Given the description of an element on the screen output the (x, y) to click on. 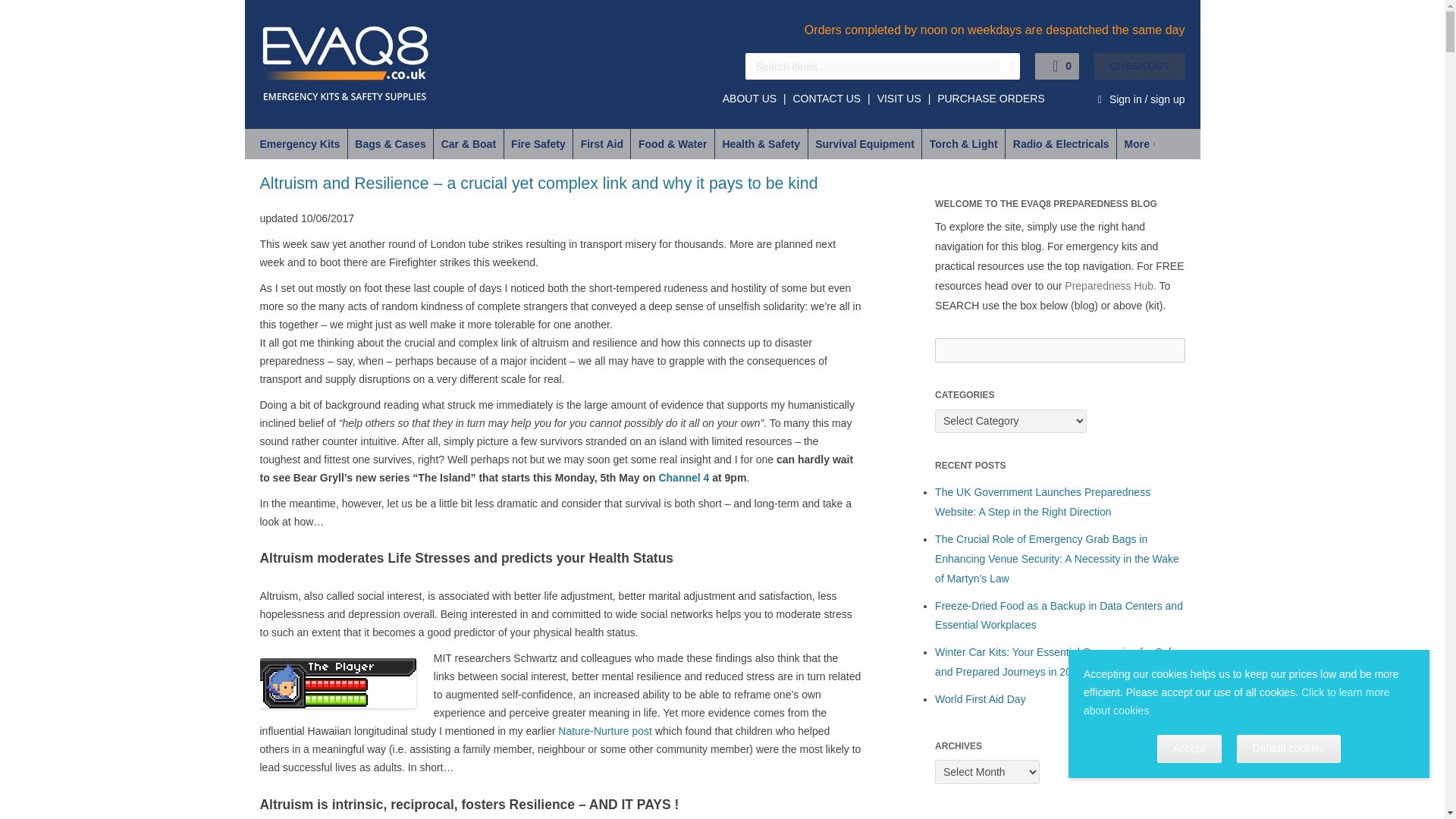
EVAQ8 logo (345, 64)
Your cart (1110, 66)
Emergency Kits (295, 143)
